Given the description of an element on the screen output the (x, y) to click on. 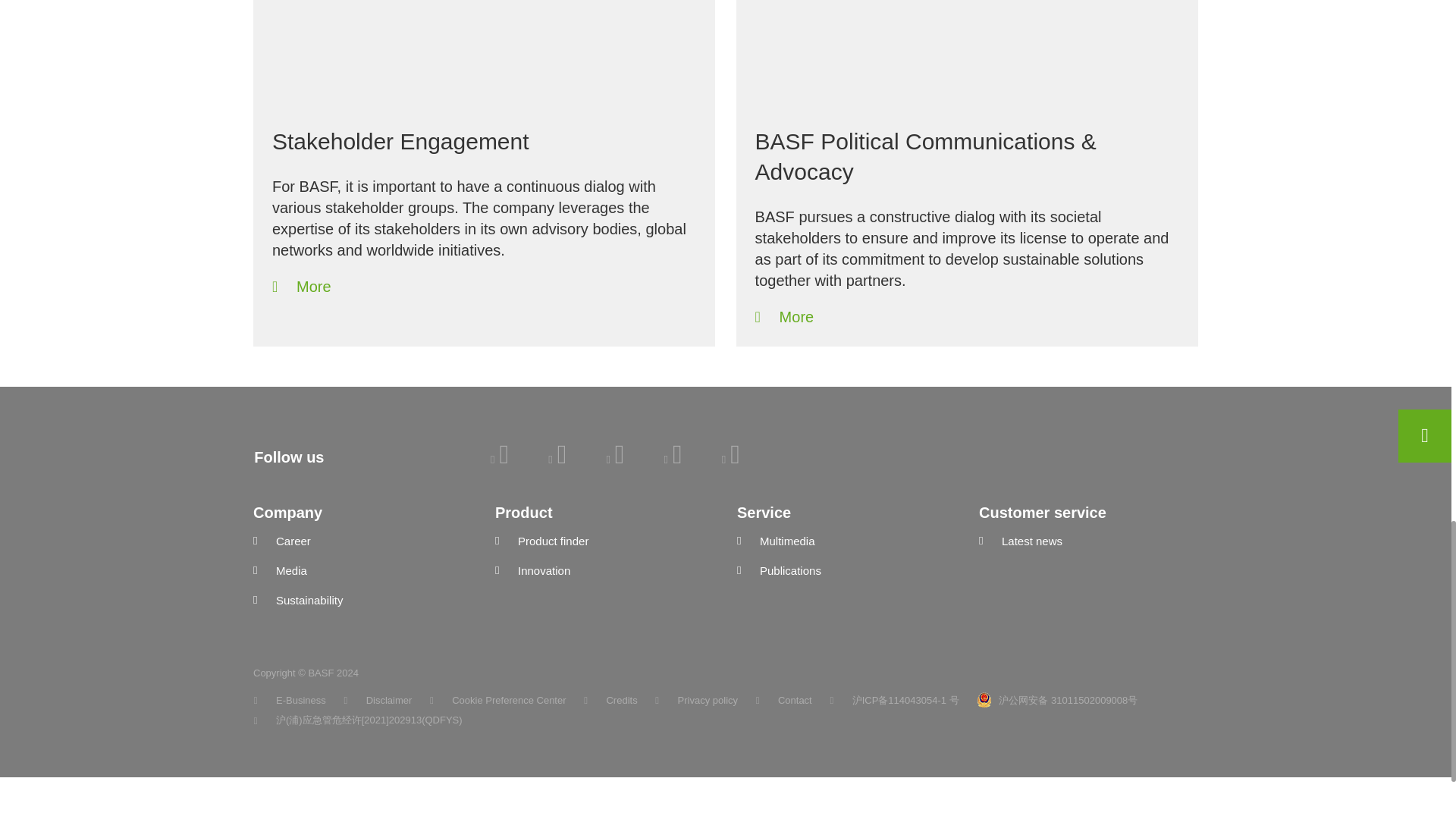
Sustainability (362, 600)
Publications (846, 570)
Join us on Youtube (672, 459)
Innovation (604, 570)
Media (362, 570)
Join us on Instagram (730, 459)
More (301, 286)
E-Business (289, 700)
Disclaimer (377, 700)
More (784, 316)
